Given the description of an element on the screen output the (x, y) to click on. 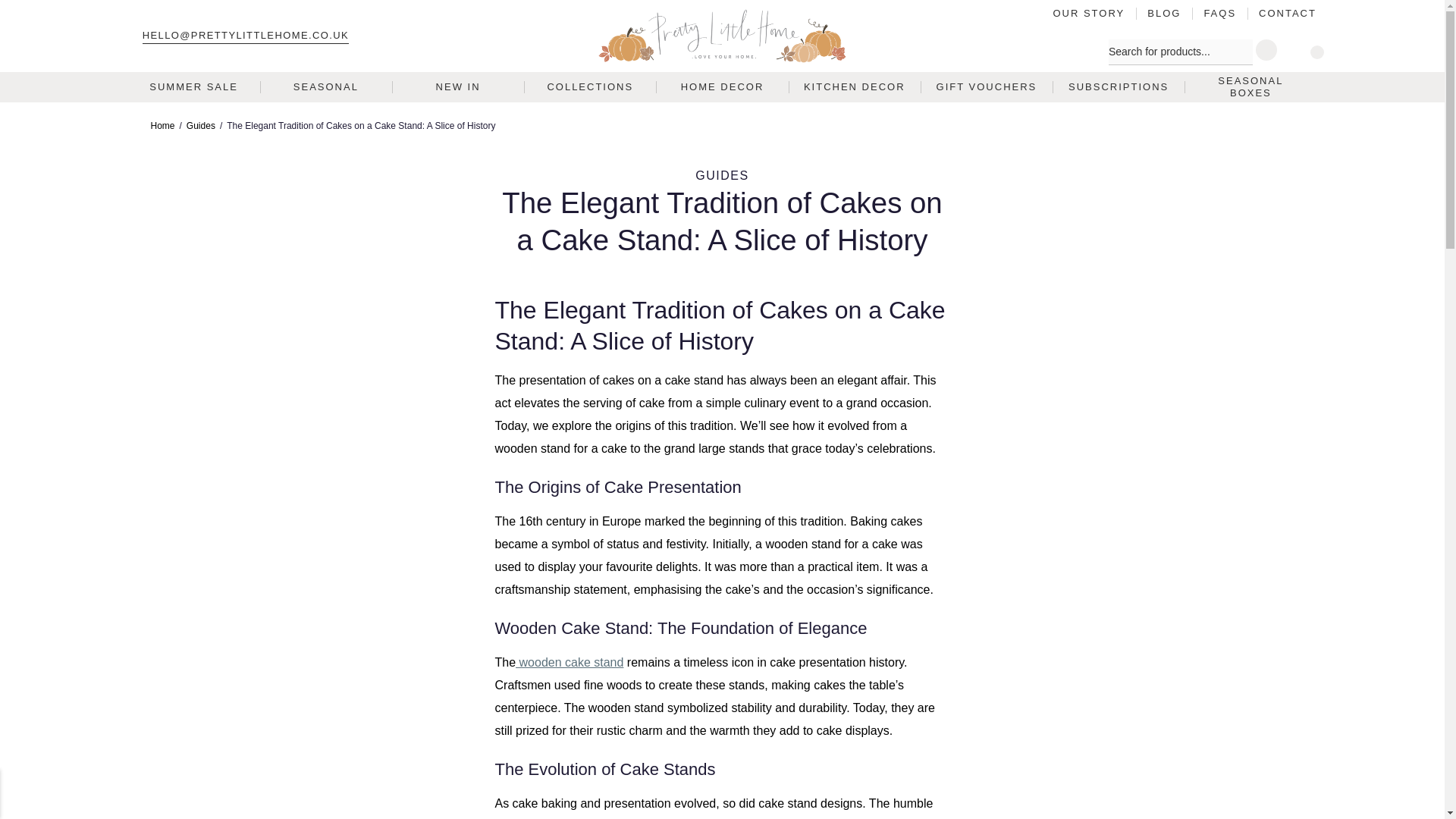
Home (161, 125)
FAQS (1219, 13)
BLOG (1163, 13)
OUR STORY (1093, 13)
PrettyLittleHome Ltd (721, 36)
CONTACT (1281, 13)
